Given the description of an element on the screen output the (x, y) to click on. 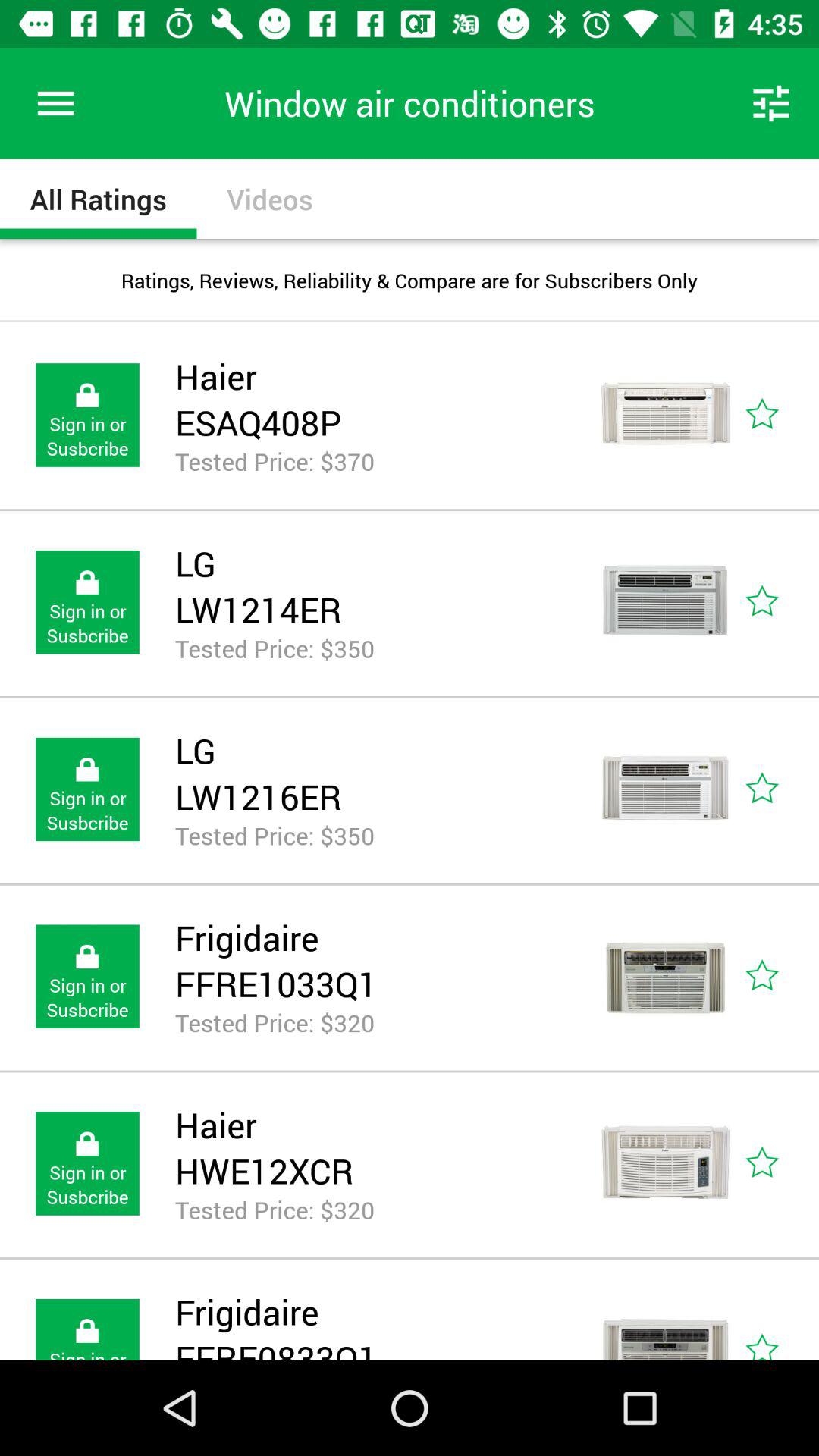
turn on the icon above the all ratings item (55, 103)
